Given the description of an element on the screen output the (x, y) to click on. 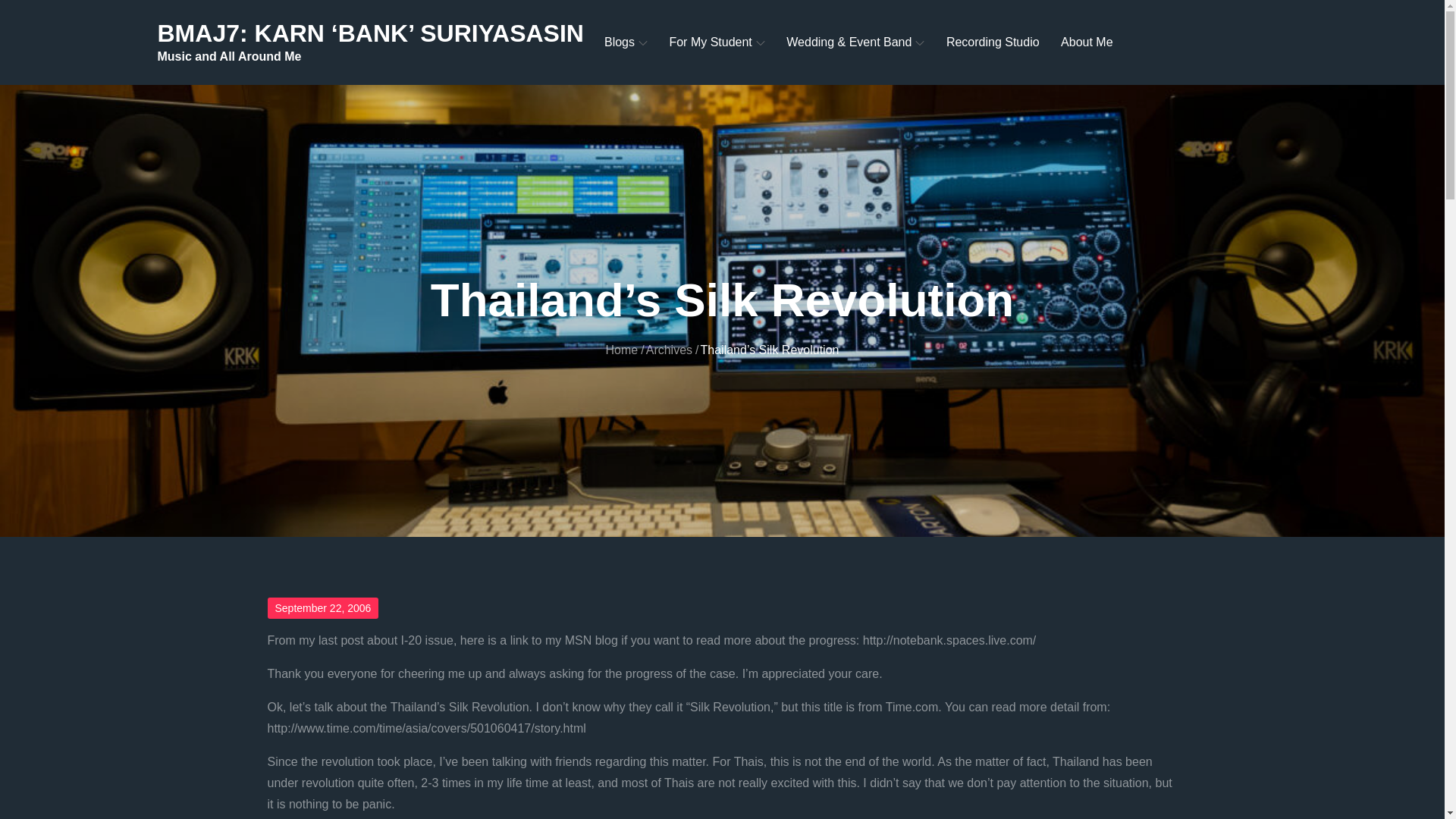
About Me (1086, 42)
Home (622, 349)
Archives (669, 349)
Recording Studio (992, 42)
September 22, 2006 (322, 608)
Blogs (625, 42)
For My Student (716, 42)
